Given the description of an element on the screen output the (x, y) to click on. 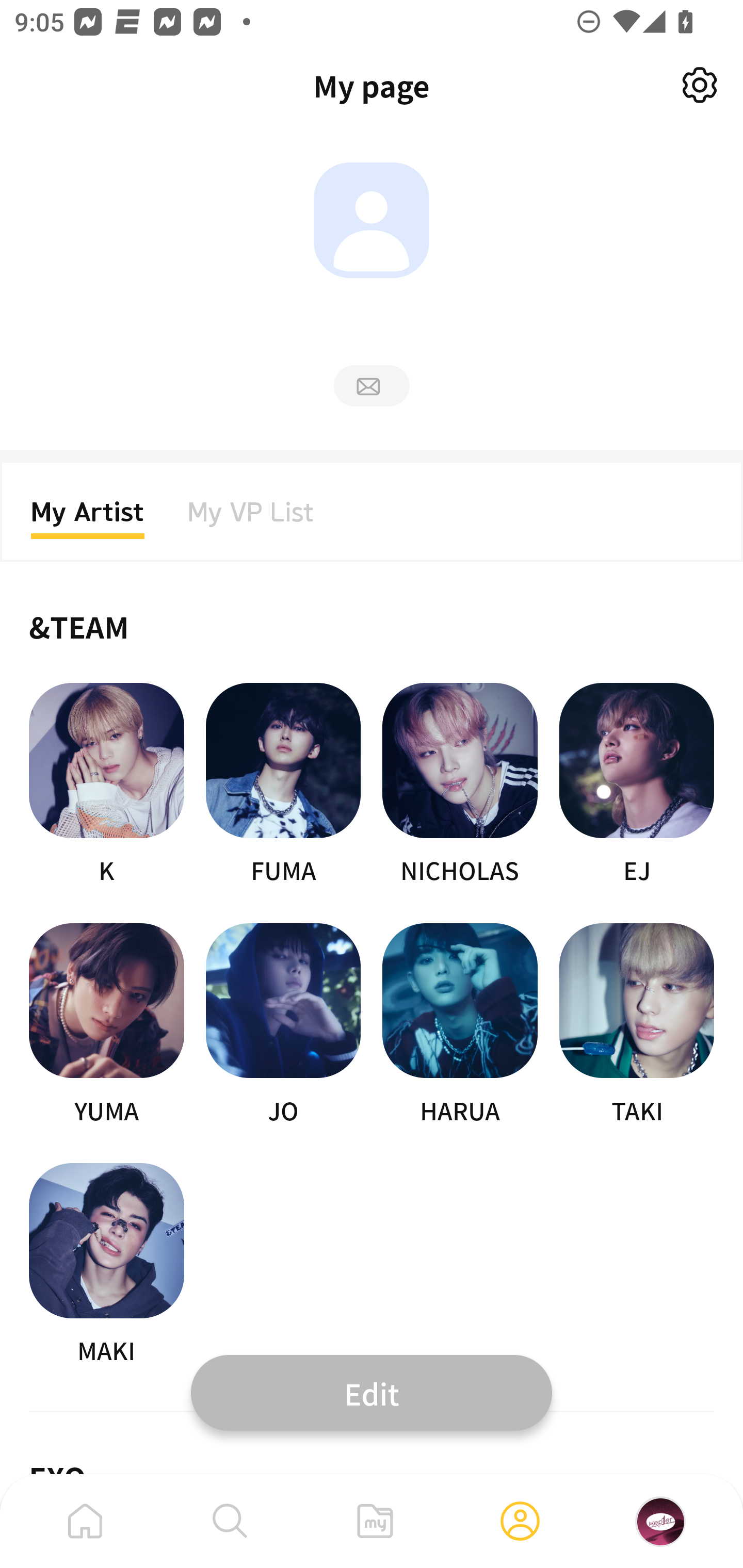
My Artist (87, 517)
My VP List (250, 517)
K (106, 785)
FUMA (282, 785)
NICHOLAS (459, 785)
EJ (636, 785)
YUMA (106, 1025)
JO (282, 1025)
HARUA (459, 1025)
TAKI (636, 1025)
MAKI (106, 1265)
Edit (371, 1392)
